Given the description of an element on the screen output the (x, y) to click on. 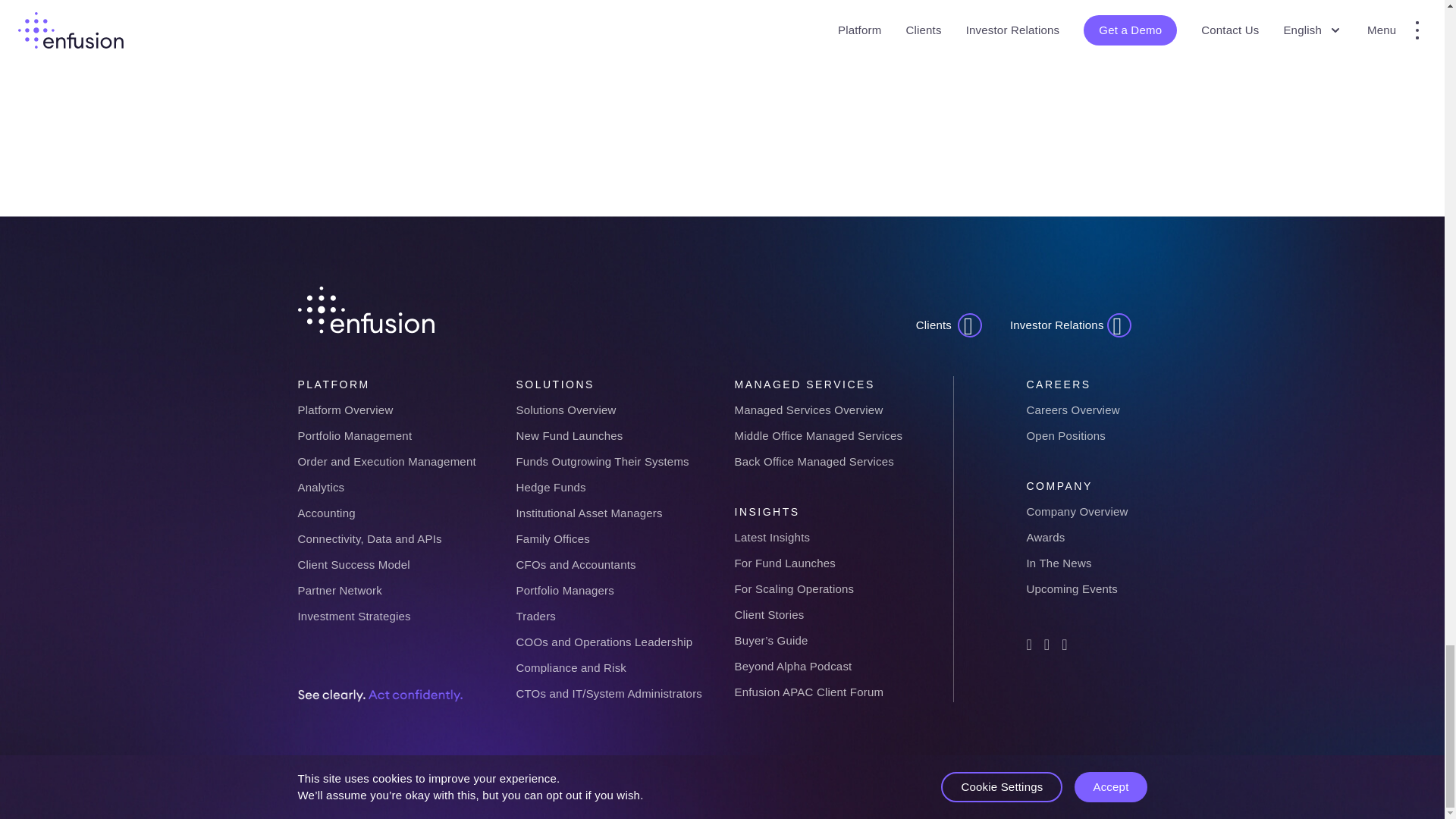
Family Offices (552, 538)
Institutional Asset Managers (588, 512)
Clients (948, 324)
Portfolio Management (354, 435)
CFOs and Accountants (574, 563)
Client Success Model (353, 563)
Partner Network (339, 590)
Connectivity, Data and APIs (369, 538)
Analytics (320, 486)
Investment Strategies (353, 615)
Solutions Overview (565, 409)
New Fund Launches (569, 435)
Investor Relations (1071, 324)
Platform Overview (345, 409)
Hedge Funds (550, 486)
